Given the description of an element on the screen output the (x, y) to click on. 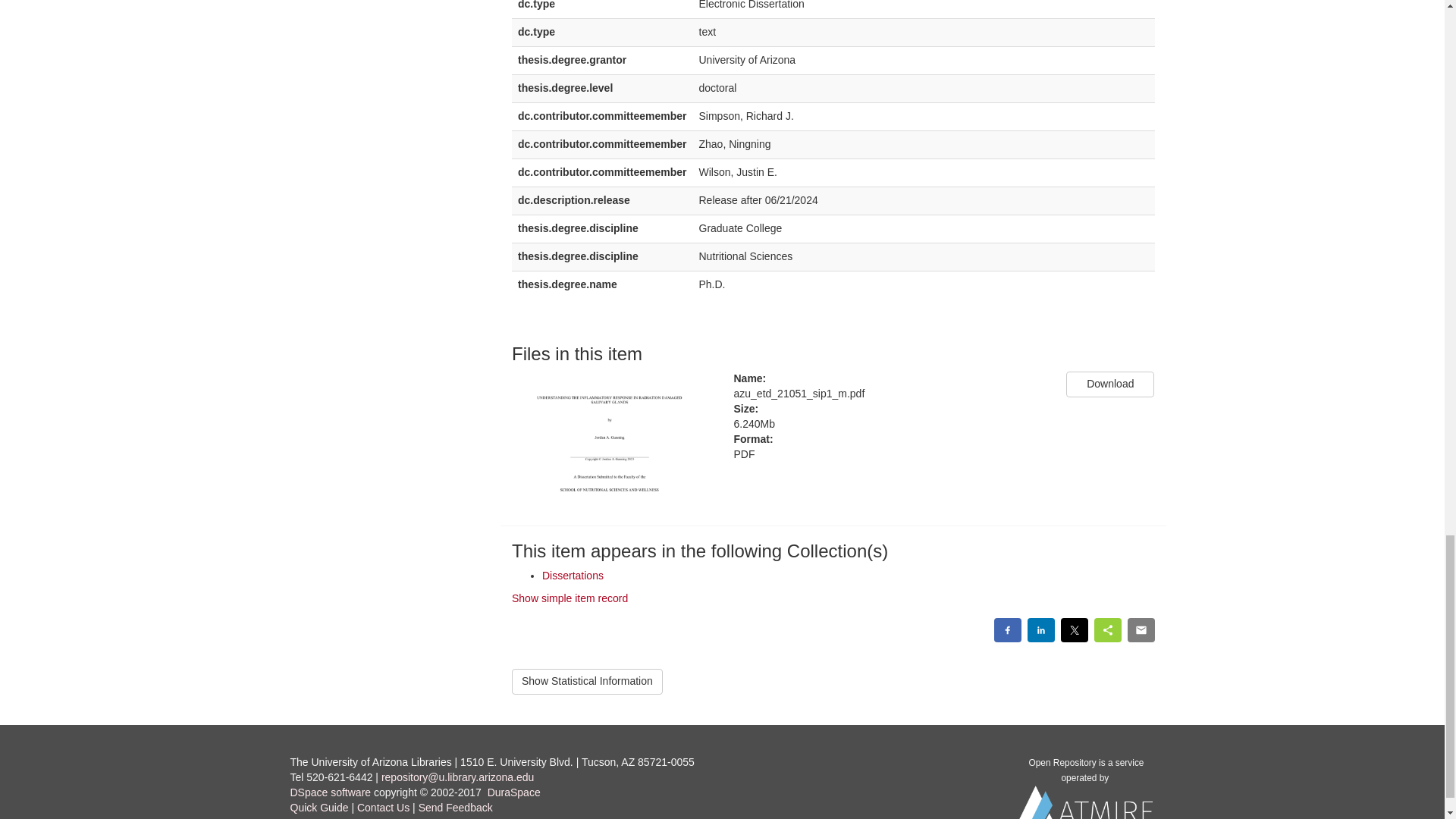
Atmire NV (1085, 808)
